Given the description of an element on the screen output the (x, y) to click on. 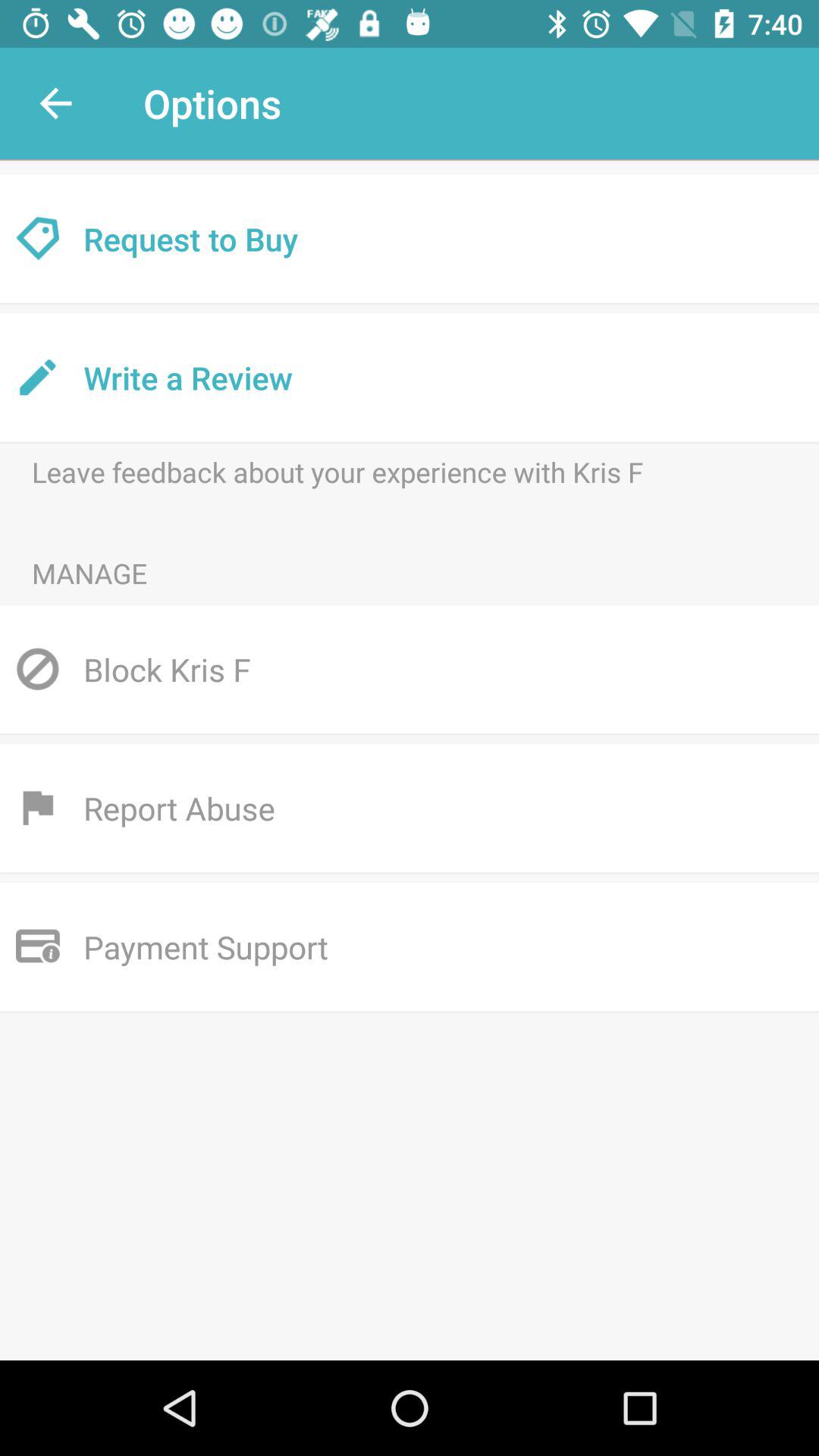
click the app next to options item (55, 103)
